Given the description of an element on the screen output the (x, y) to click on. 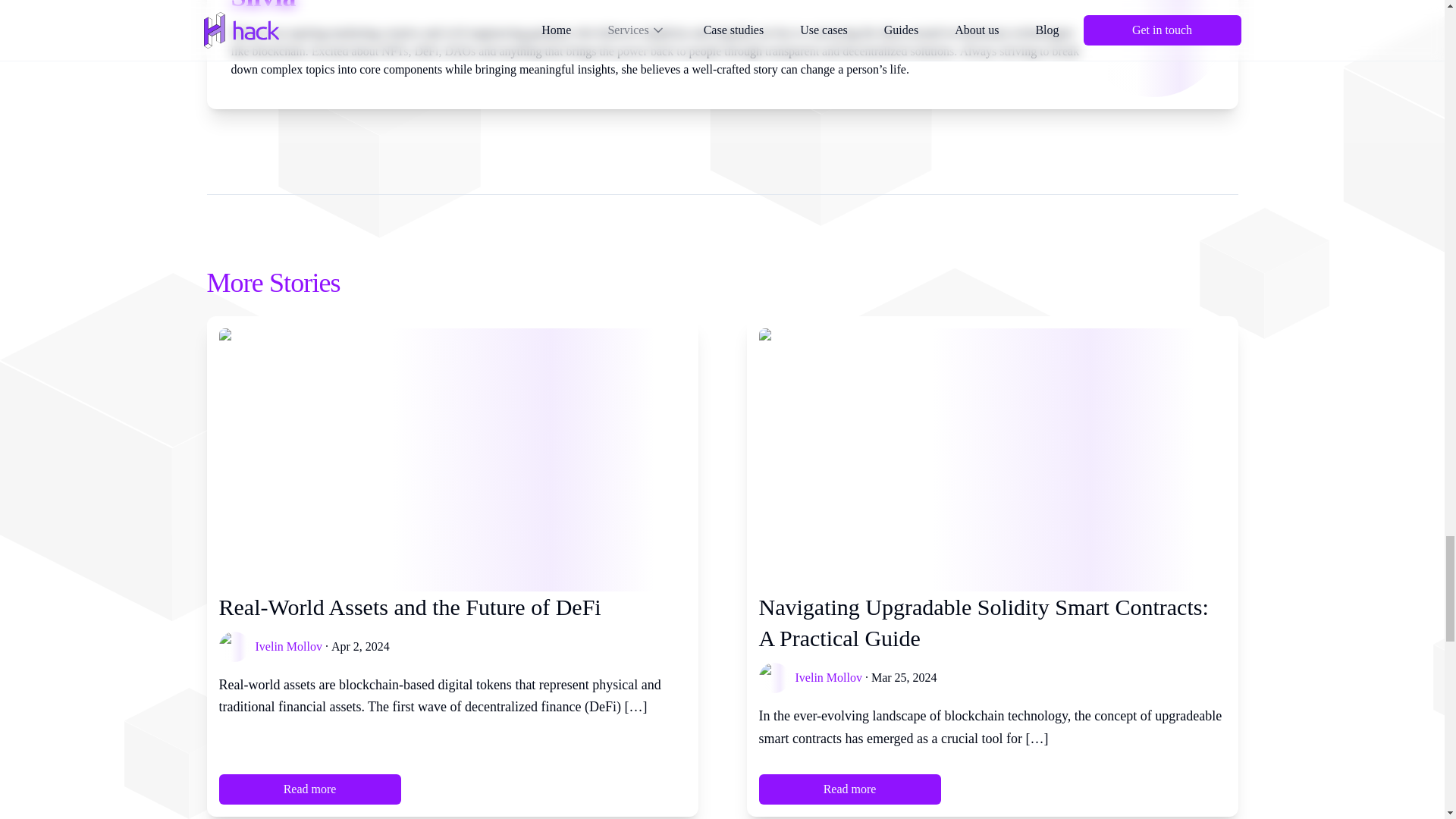
Read more (849, 788)
Ivelin Mollov (827, 677)
Real-World Assets and the Future of DeFi (451, 606)
Ivelin Mollov (287, 646)
Read more (309, 788)
